Given the description of an element on the screen output the (x, y) to click on. 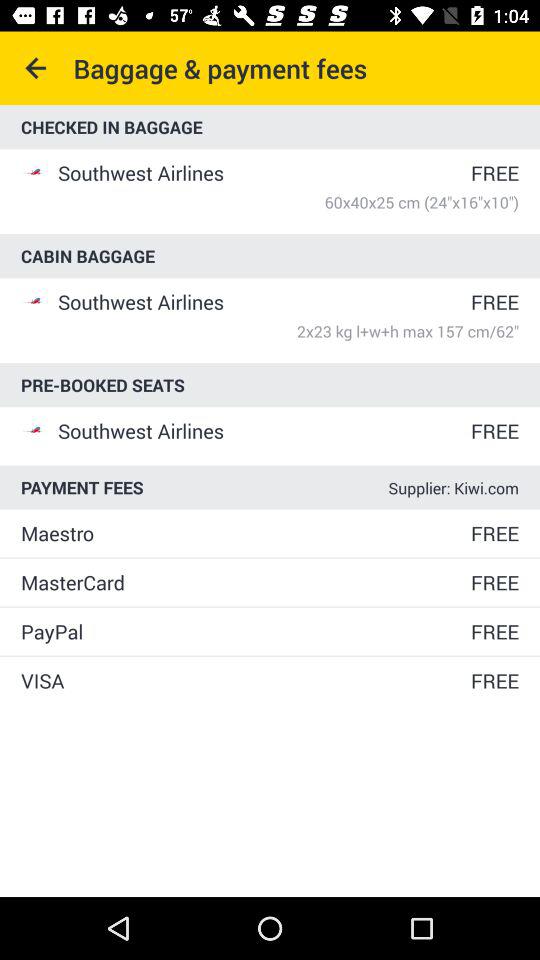
turn on the icon below mastercard (244, 631)
